Given the description of an element on the screen output the (x, y) to click on. 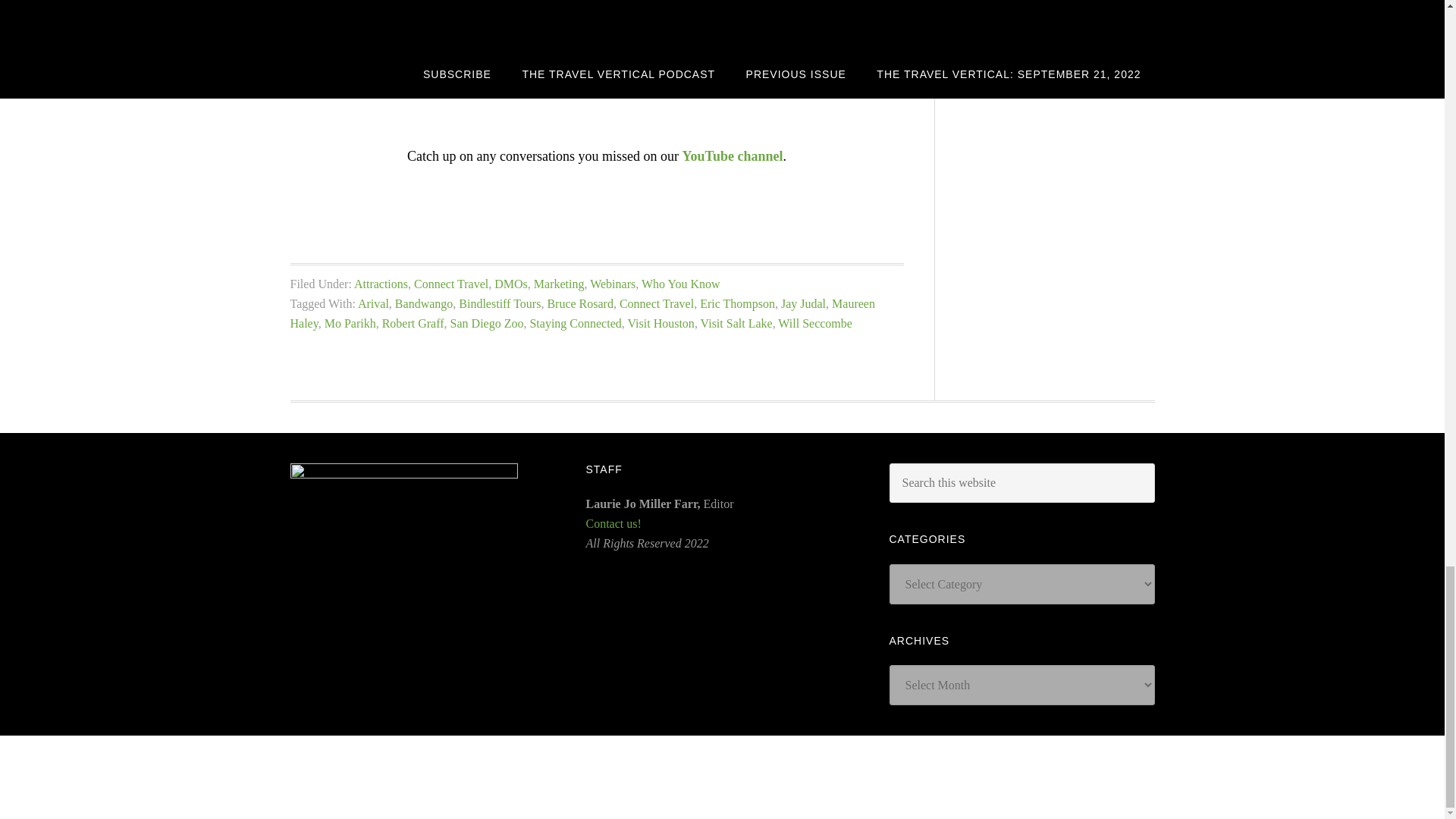
Arival (373, 303)
Jay Judal (802, 303)
Visit Houston (660, 323)
Marketing (559, 283)
Who You Know (681, 283)
Will Seccombe (814, 323)
Robert Graff (412, 323)
Eric Thompson (737, 303)
Connect Travel (657, 303)
